Given the description of an element on the screen output the (x, y) to click on. 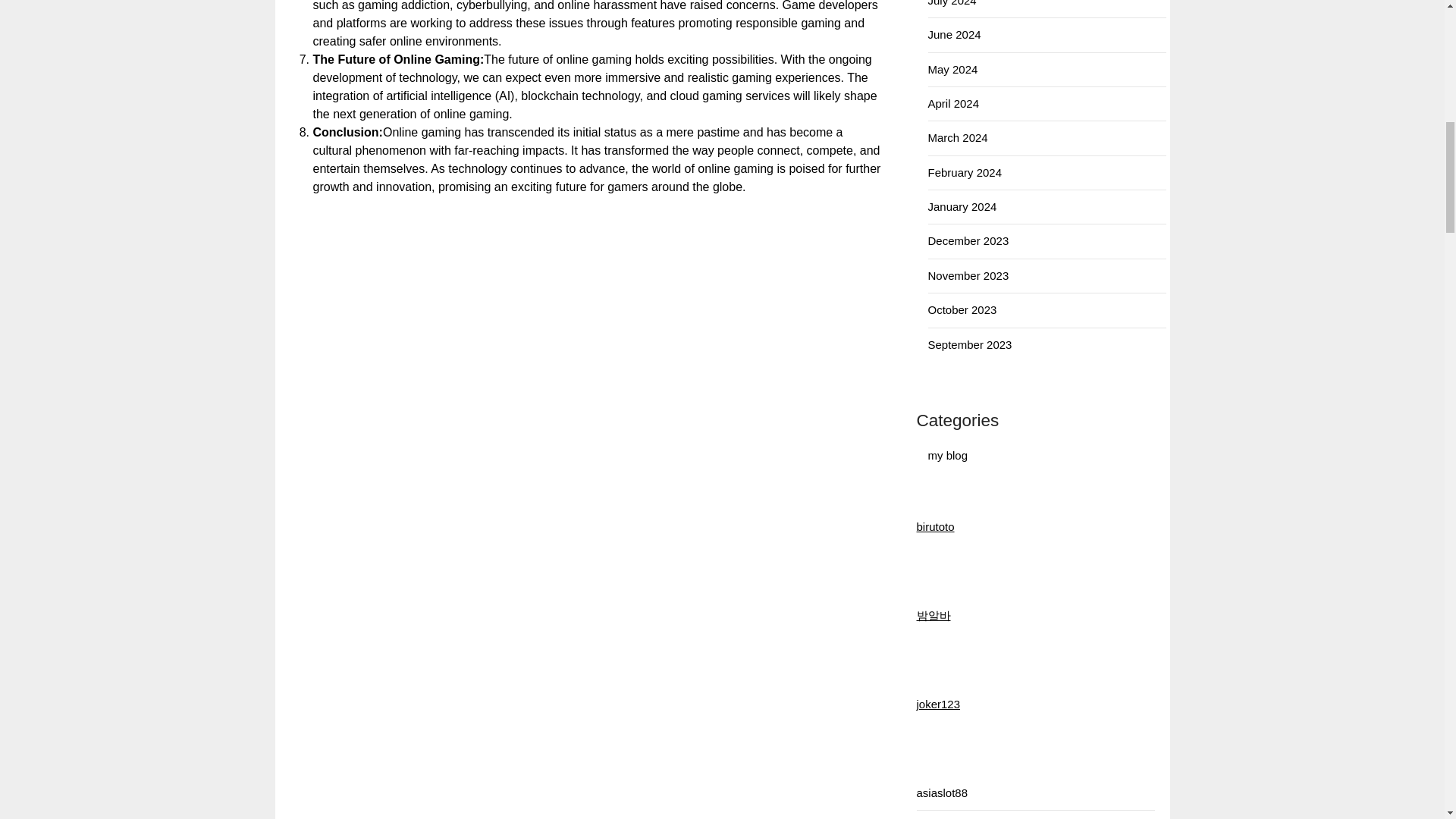
my blog (948, 454)
December 2023 (968, 240)
March 2024 (958, 137)
June 2024 (954, 33)
asiaslot88 (941, 791)
November 2023 (968, 275)
September 2023 (969, 344)
May 2024 (953, 69)
joker123 (937, 703)
July 2024 (952, 3)
birutoto (934, 526)
April 2024 (953, 103)
October 2023 (962, 309)
January 2024 (962, 205)
February 2024 (965, 172)
